Given the description of an element on the screen output the (x, y) to click on. 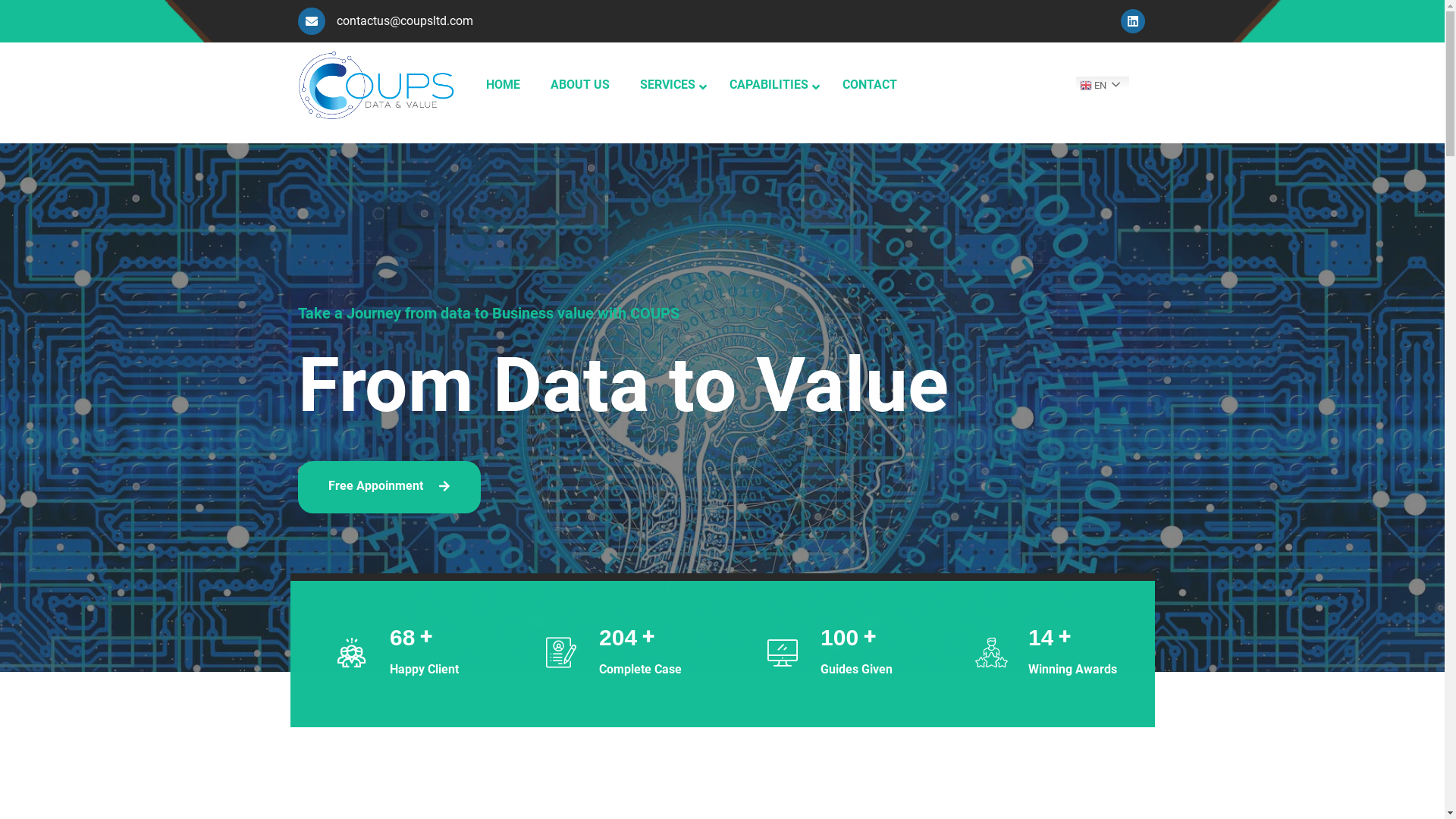
SERVICES Element type: text (669, 84)
ABOUT US Element type: text (579, 84)
contactus@coupsltd.com Element type: text (384, 20)
HOME Element type: text (502, 84)
CAPABILITIES Element type: text (770, 84)
Free Appoinment Element type: text (388, 487)
EN Element type: text (1139, 85)
CONTACT Element type: text (868, 84)
